Given the description of an element on the screen output the (x, y) to click on. 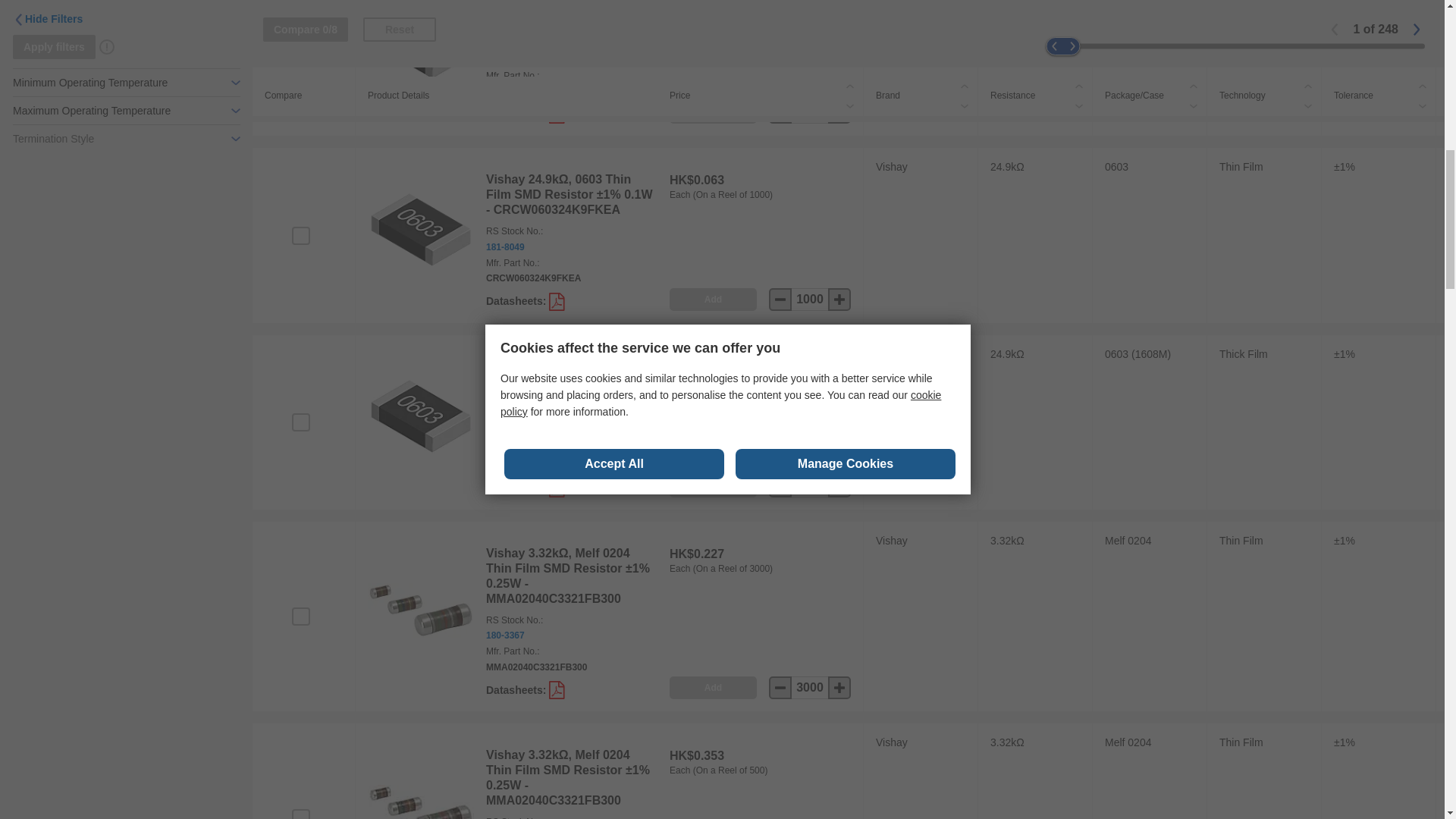
on (299, 235)
5000 (810, 111)
1000 (810, 299)
on (299, 814)
50 (810, 486)
on (299, 422)
on (299, 48)
3000 (810, 687)
on (299, 616)
